Given the description of an element on the screen output the (x, y) to click on. 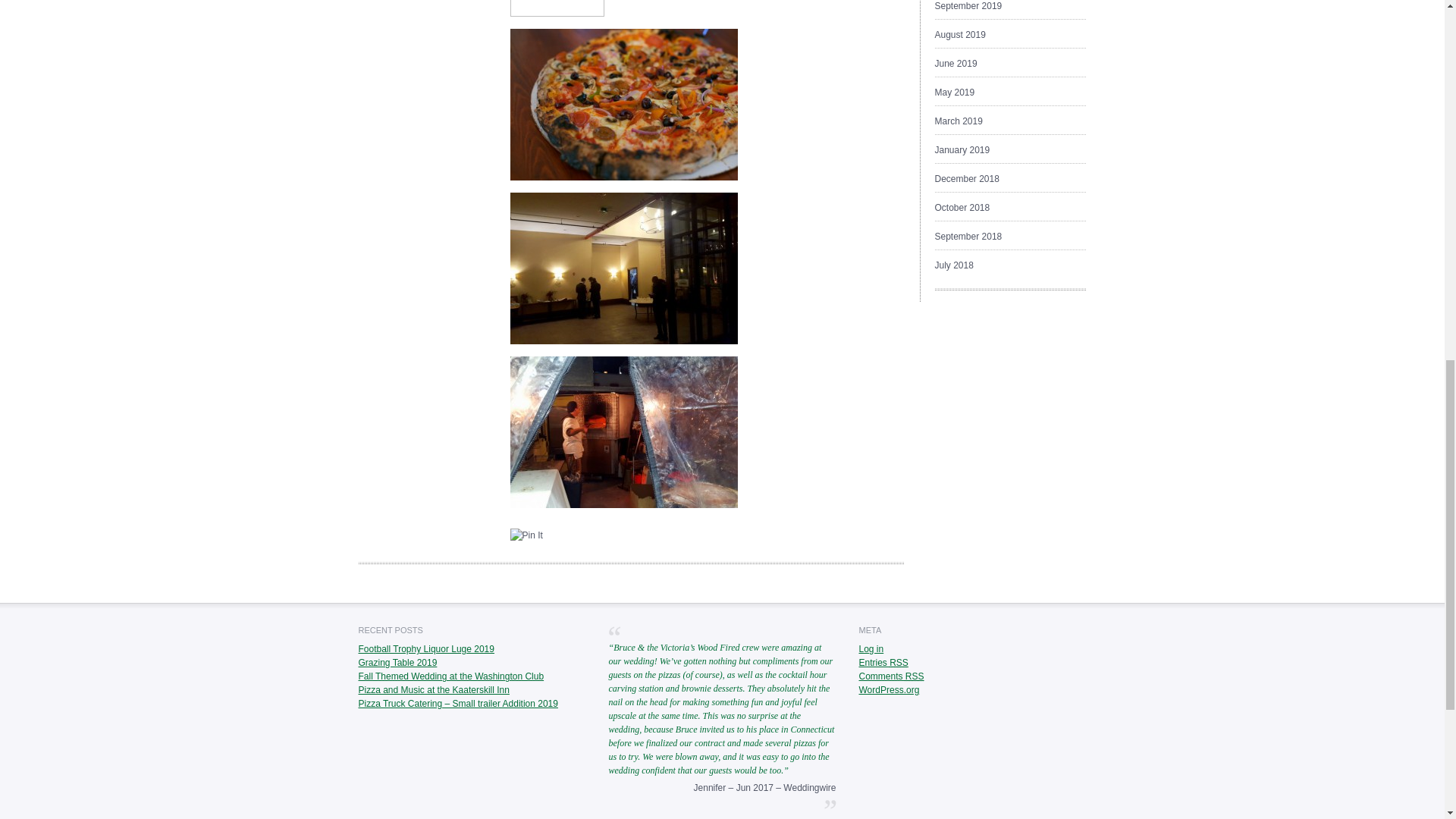
Pin It (525, 535)
